Given the description of an element on the screen output the (x, y) to click on. 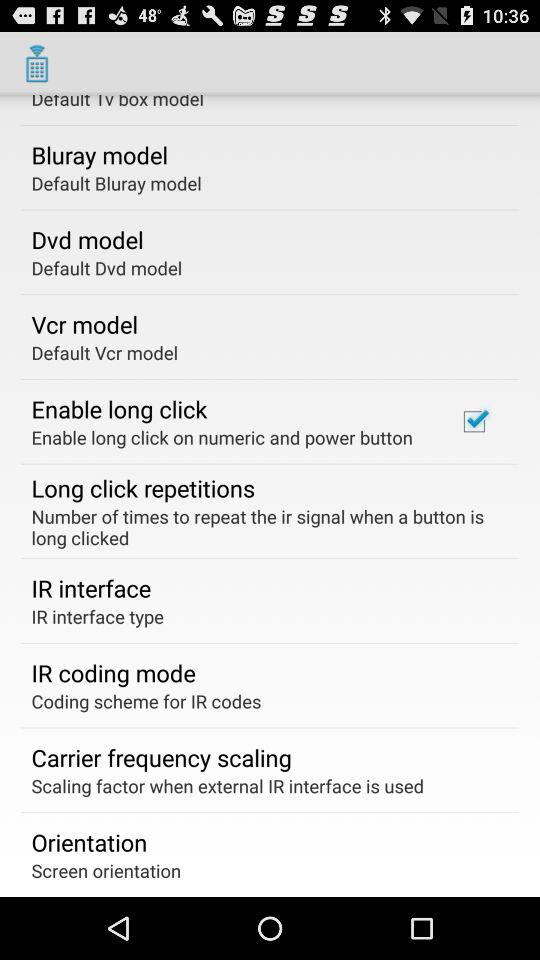
open item above bluray model app (117, 102)
